Given the description of an element on the screen output the (x, y) to click on. 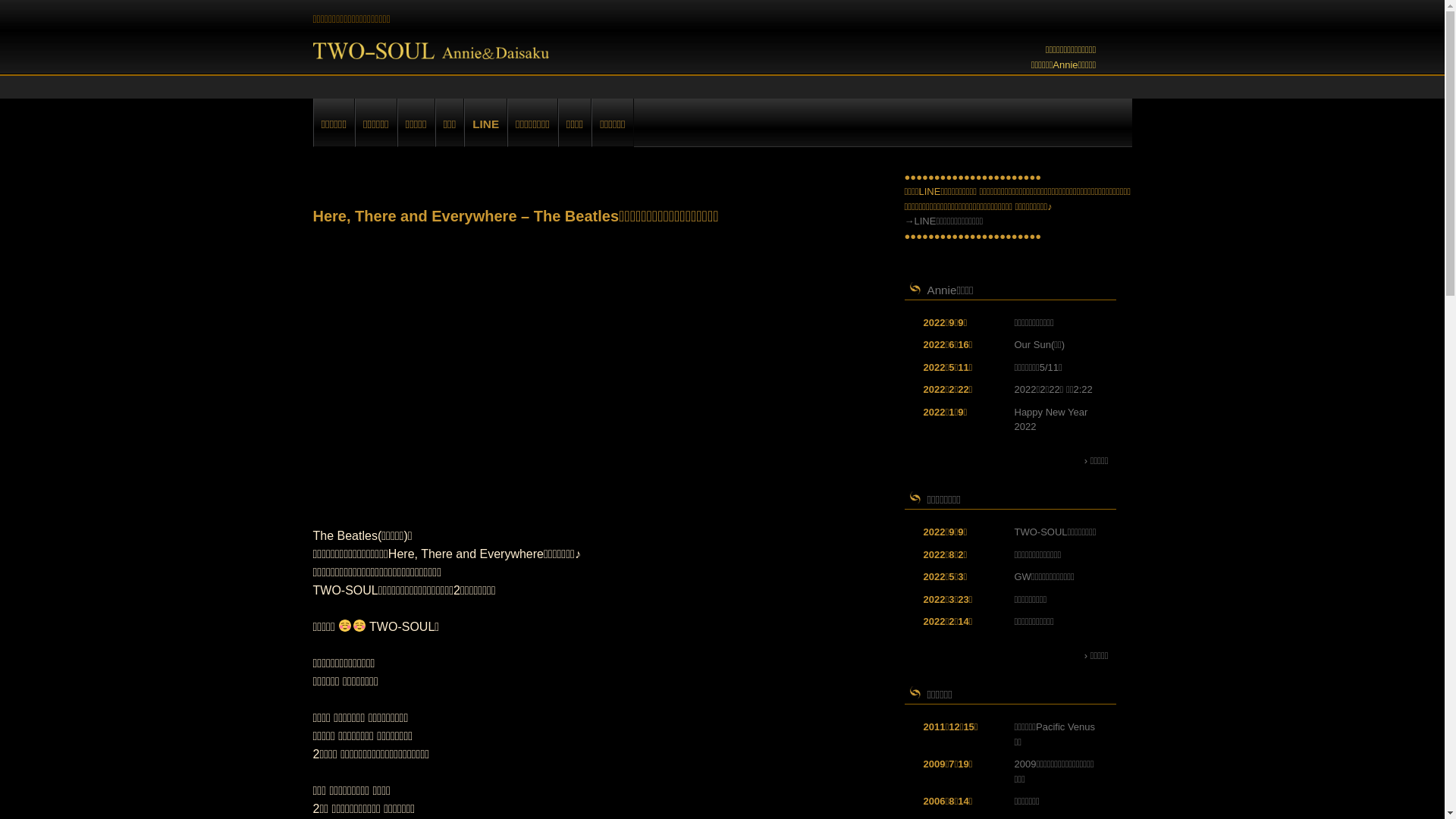
Happy New Year 2022 Element type: text (1051, 419)
LINE Element type: text (485, 122)
